Given the description of an element on the screen output the (x, y) to click on. 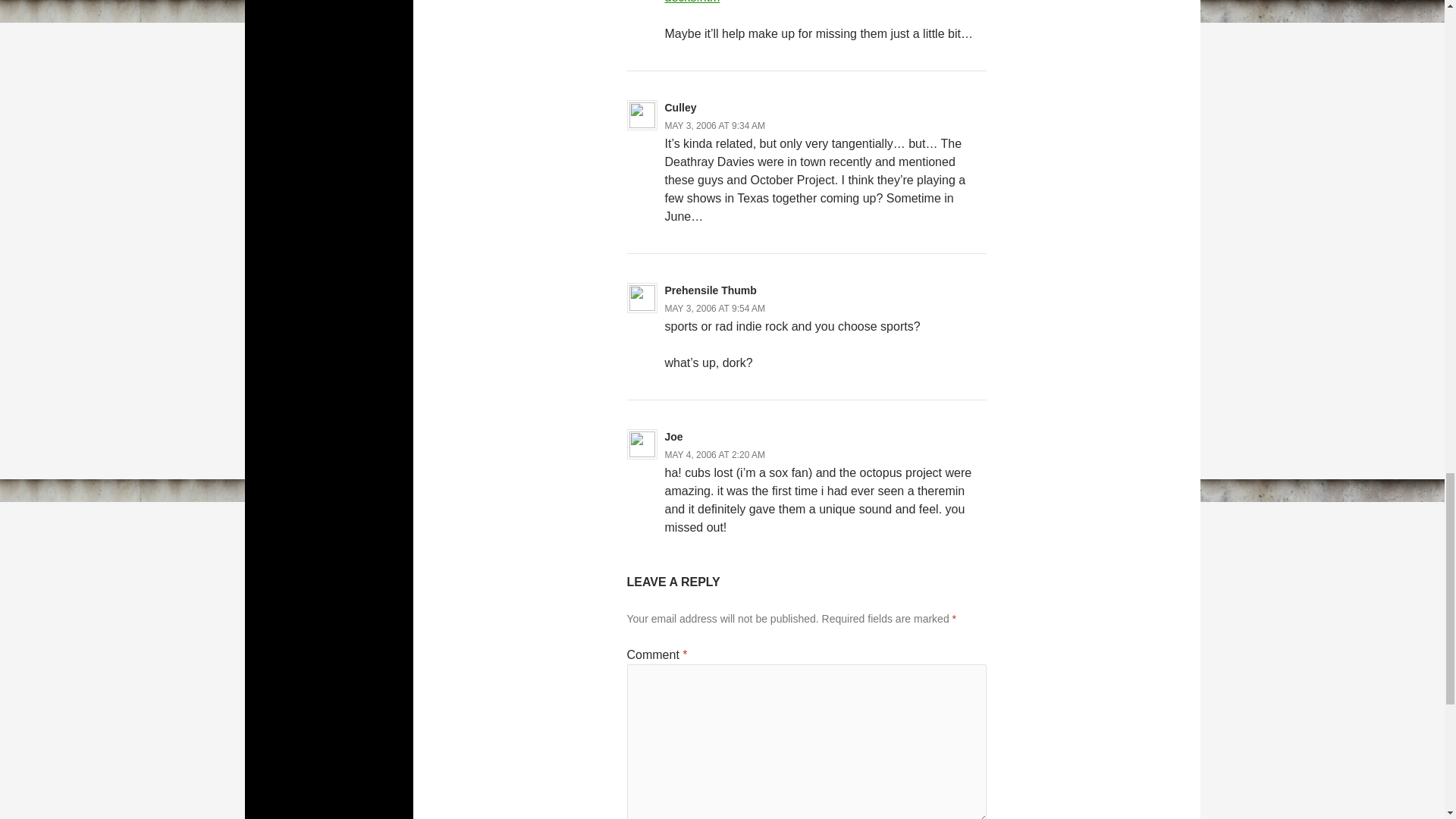
Culley (679, 107)
MAY 4, 2006 AT 2:20 AM (714, 454)
MAY 3, 2006 AT 9:54 AM (714, 308)
Prehensile Thumb (709, 290)
MAY 3, 2006 AT 9:34 AM (714, 125)
